Given the description of an element on the screen output the (x, y) to click on. 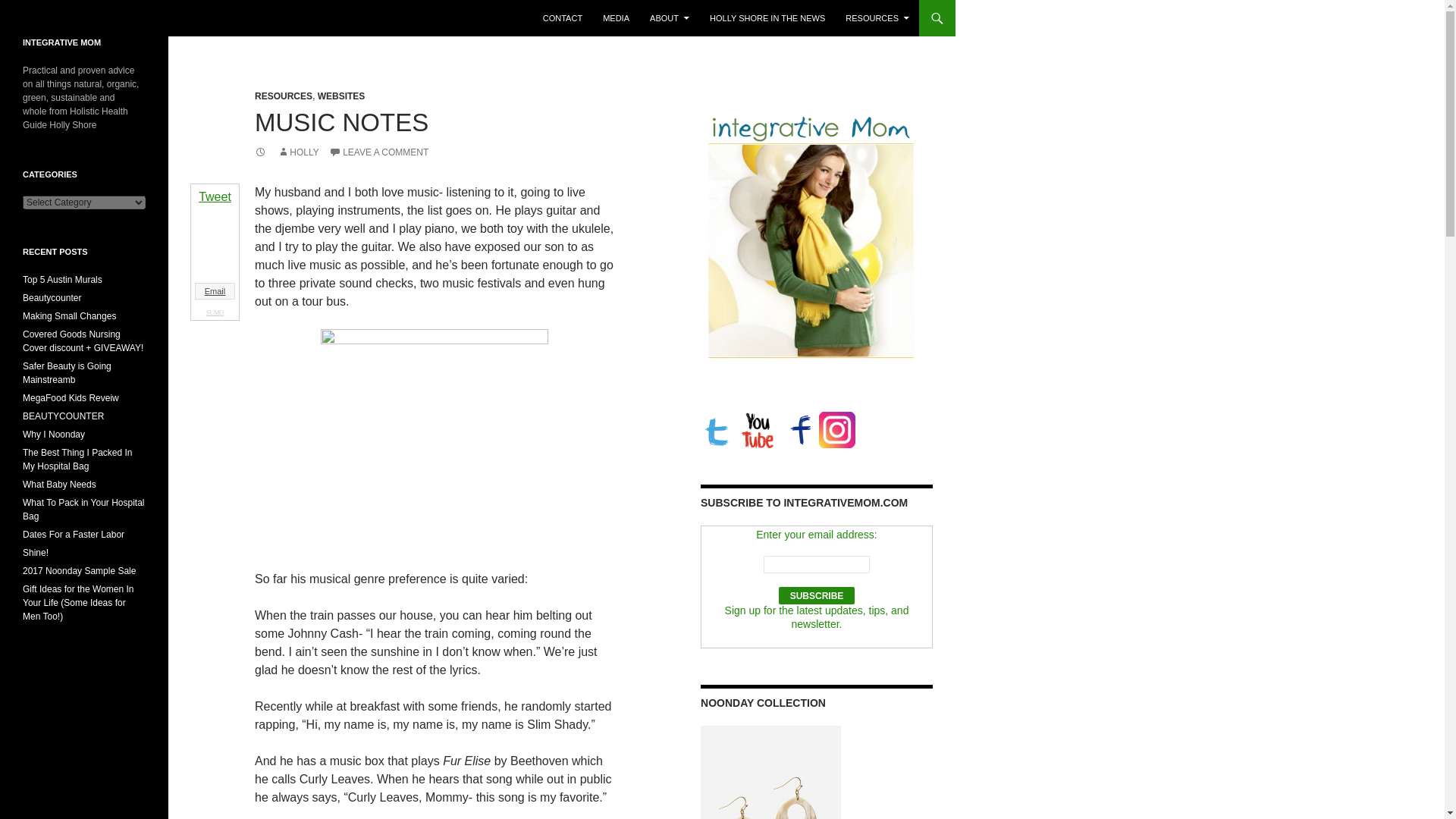
cropped drummer (434, 440)
Subscribe (817, 595)
WEBSITES (341, 95)
ABOUT (669, 18)
MEDIA (616, 18)
CONTACT (562, 18)
HOLLY SHORE IN THE NEWS (767, 18)
RESOURCES (876, 18)
RESOURCES (283, 95)
